Given the description of an element on the screen output the (x, y) to click on. 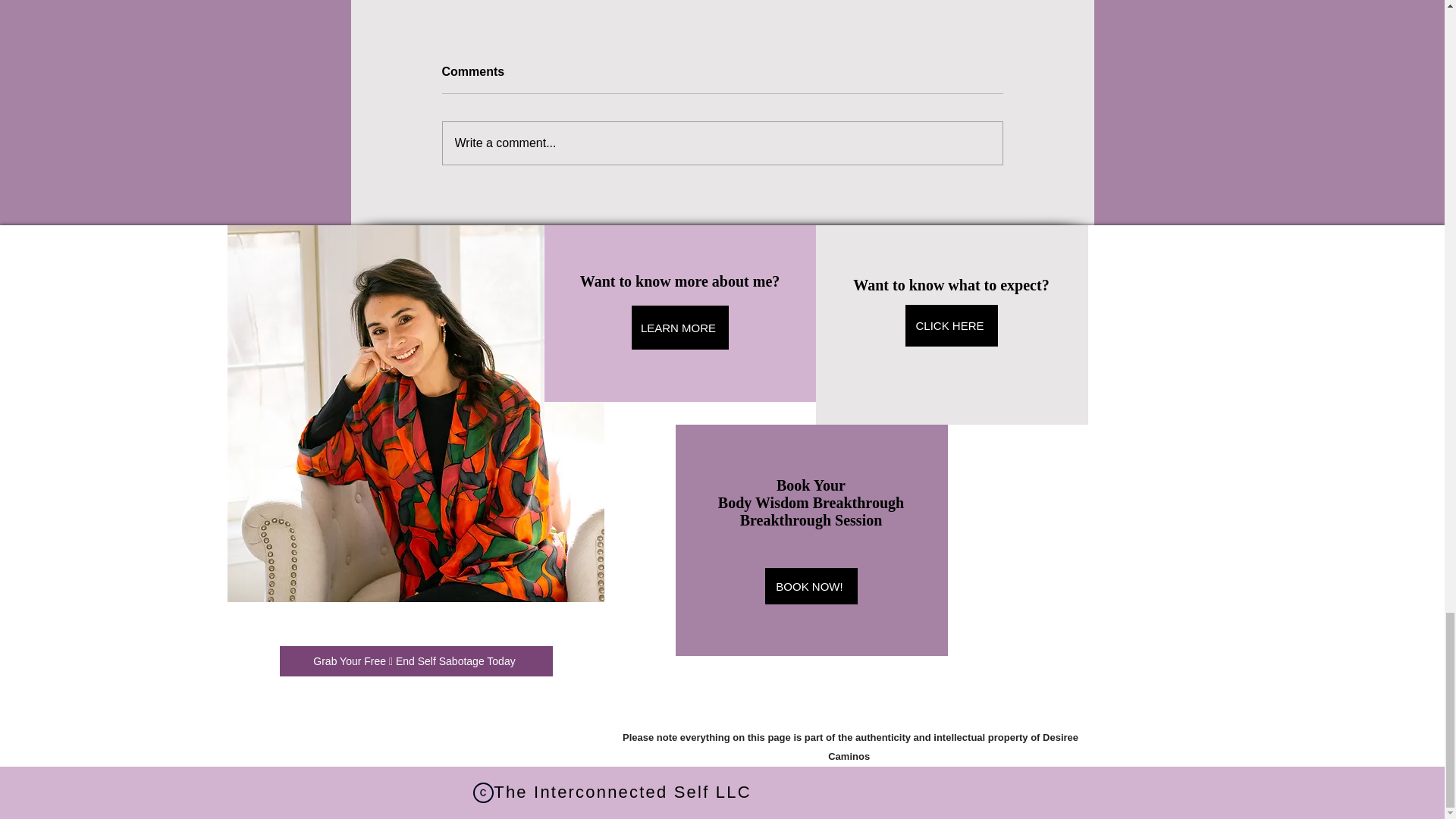
Post not marked as liked (558, 1)
